Given the description of an element on the screen output the (x, y) to click on. 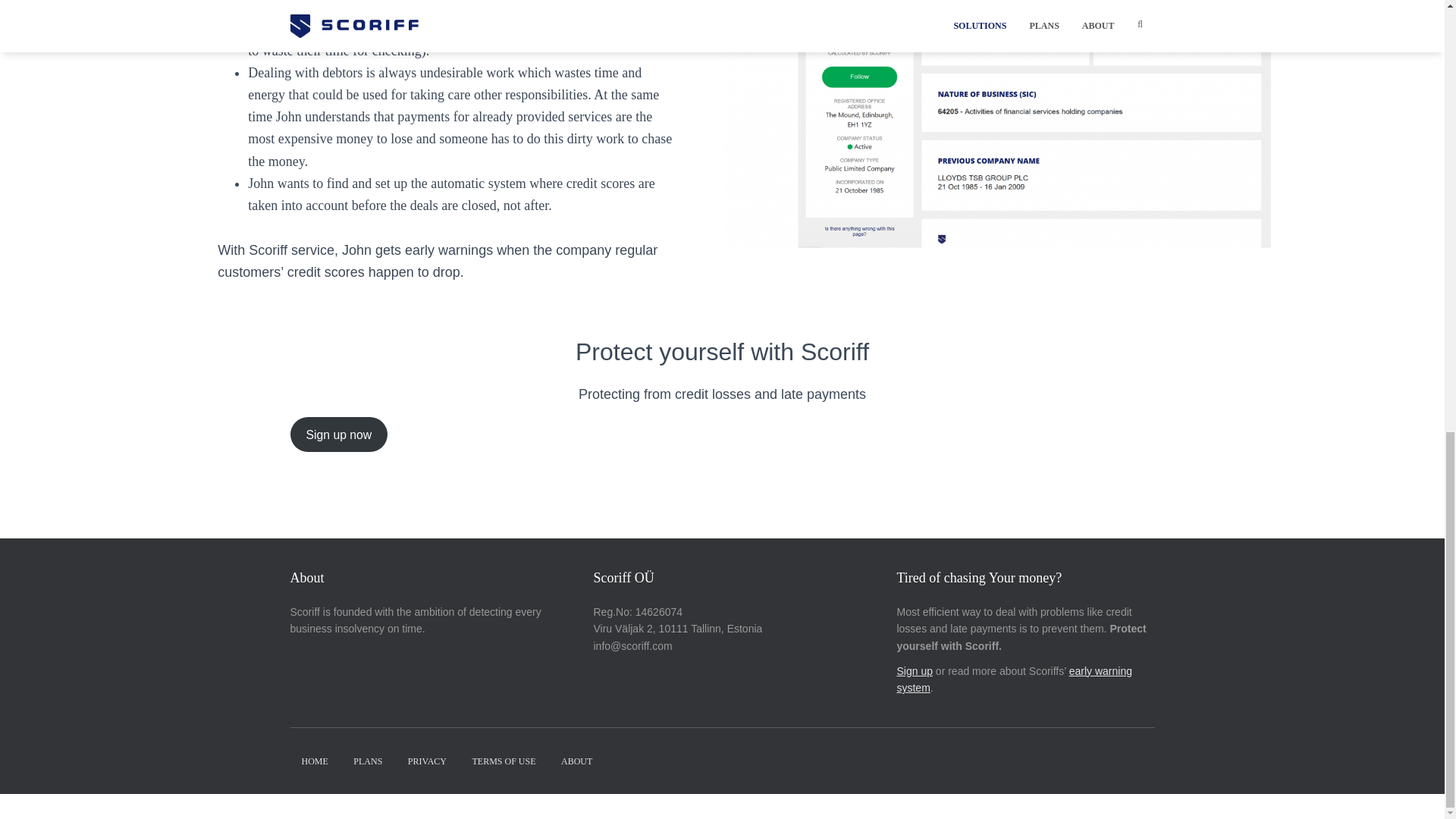
Sign up (913, 671)
ABOUT (577, 761)
TERMS OF USE (504, 761)
Sign up now (338, 434)
PRIVACY (427, 761)
HOME (314, 761)
PLANS (367, 761)
early warning system (1014, 679)
